Given the description of an element on the screen output the (x, y) to click on. 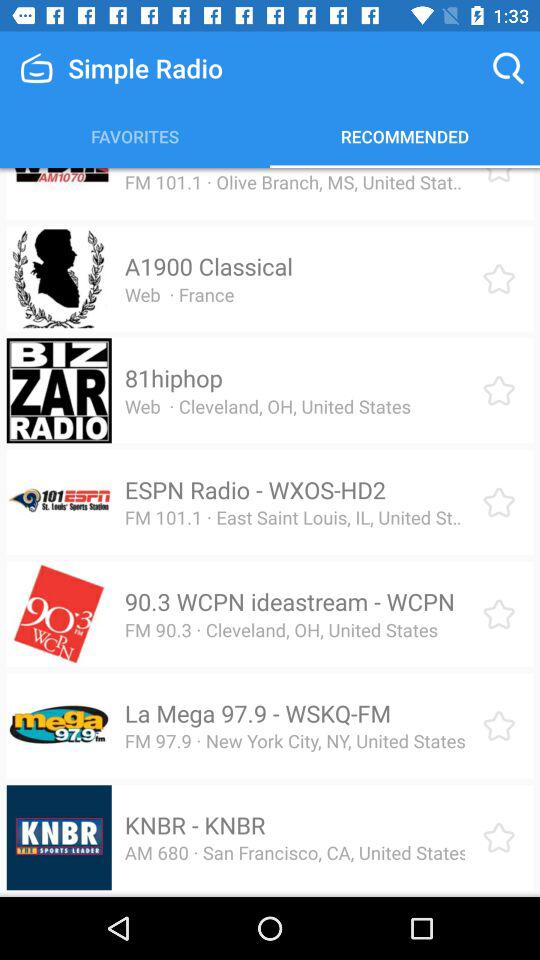
tap item above fm 101 1 item (249, 168)
